Given the description of an element on the screen output the (x, y) to click on. 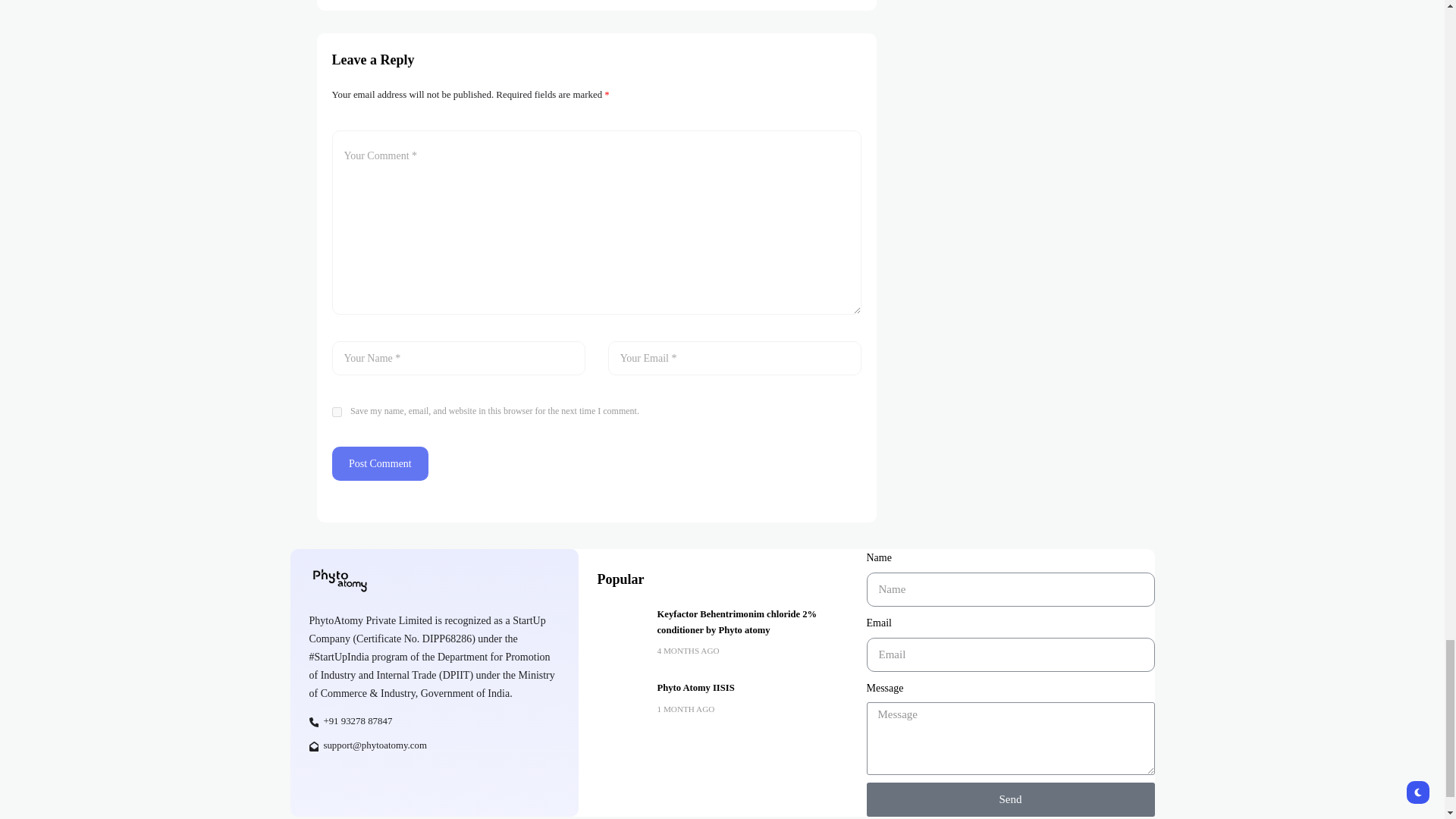
Post Comment (380, 463)
yes (336, 411)
